Given the description of an element on the screen output the (x, y) to click on. 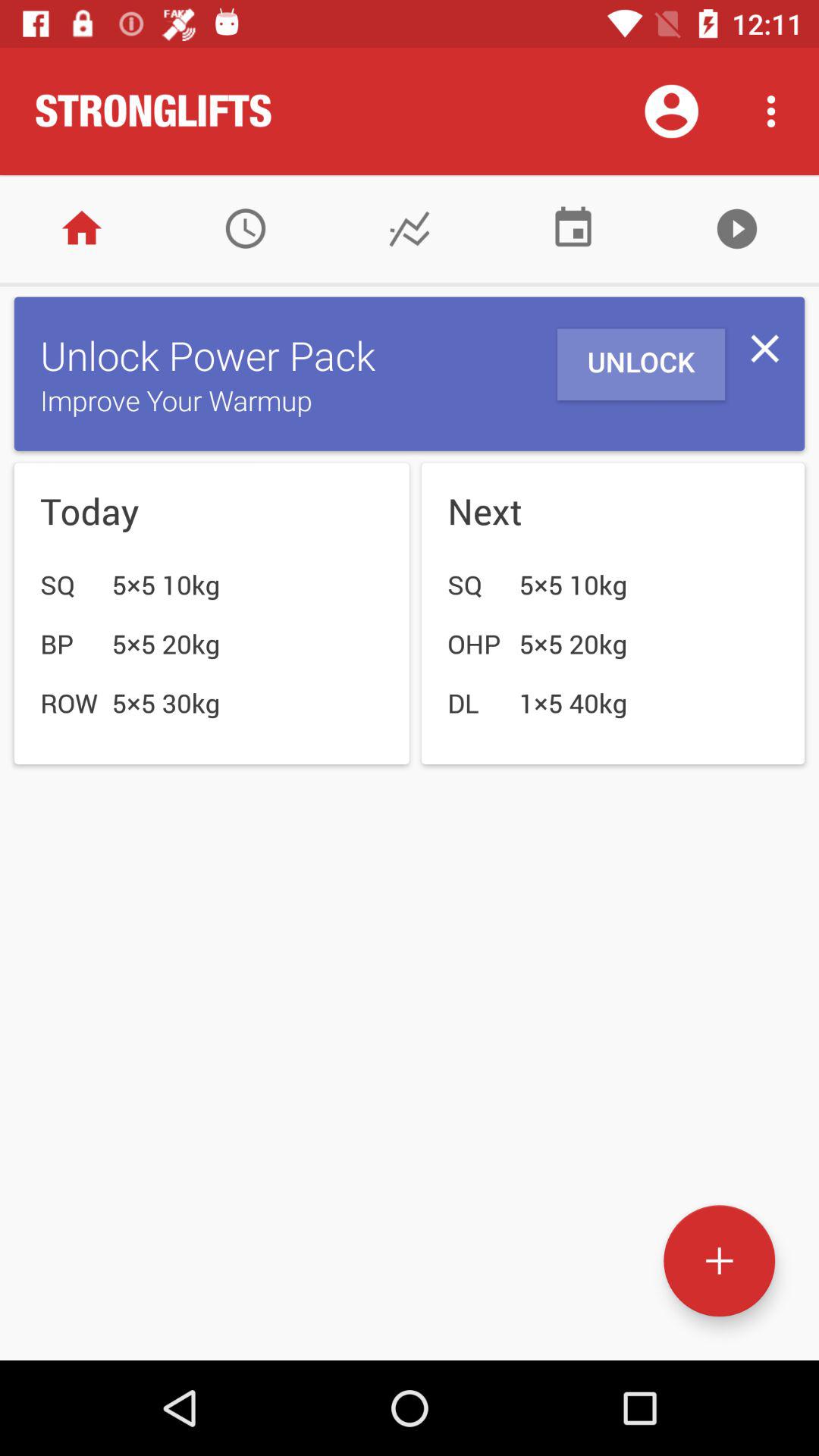
play the program (737, 228)
